Given the description of an element on the screen output the (x, y) to click on. 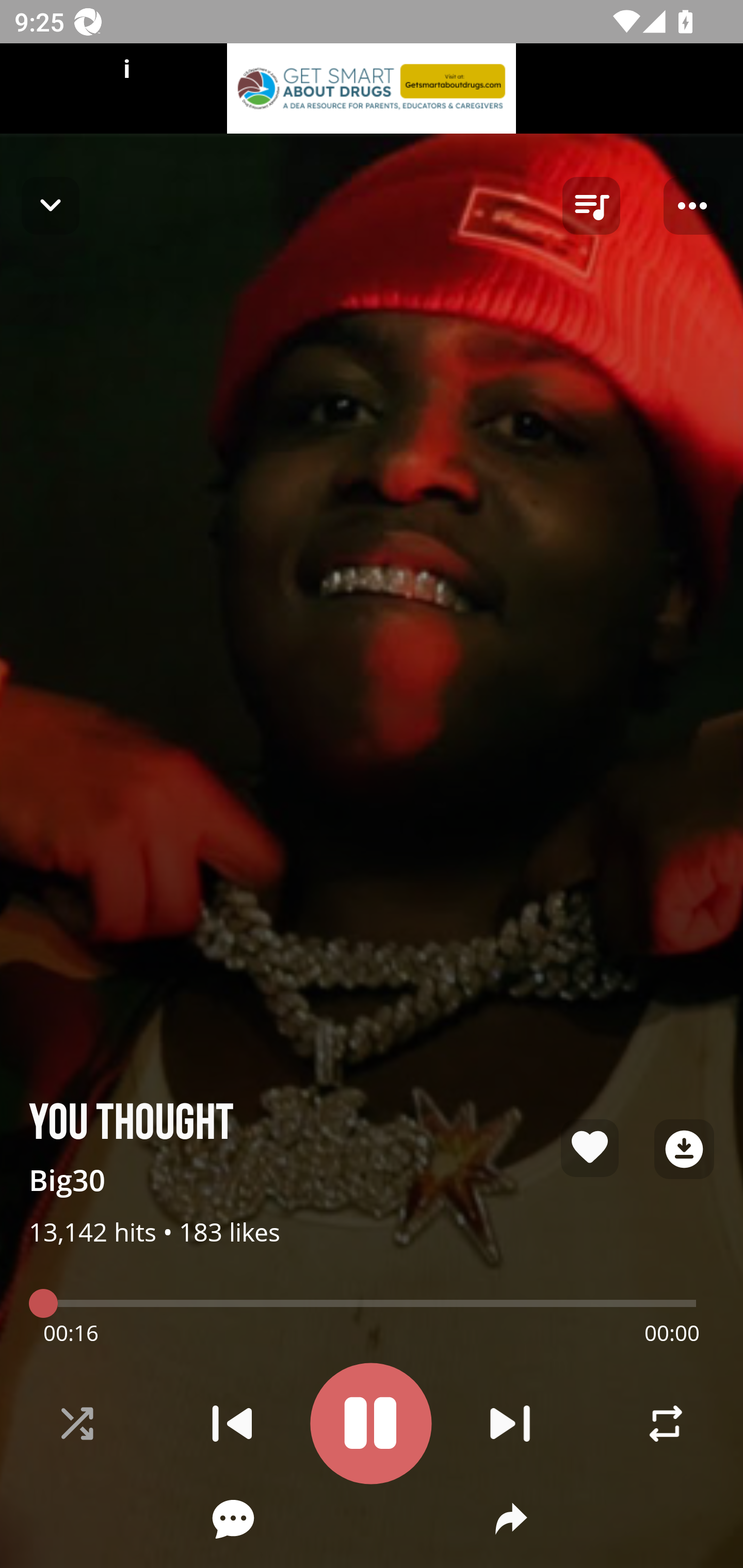
Navigate up (50, 205)
queue (590, 206)
Player options (692, 206)
